Given the description of an element on the screen output the (x, y) to click on. 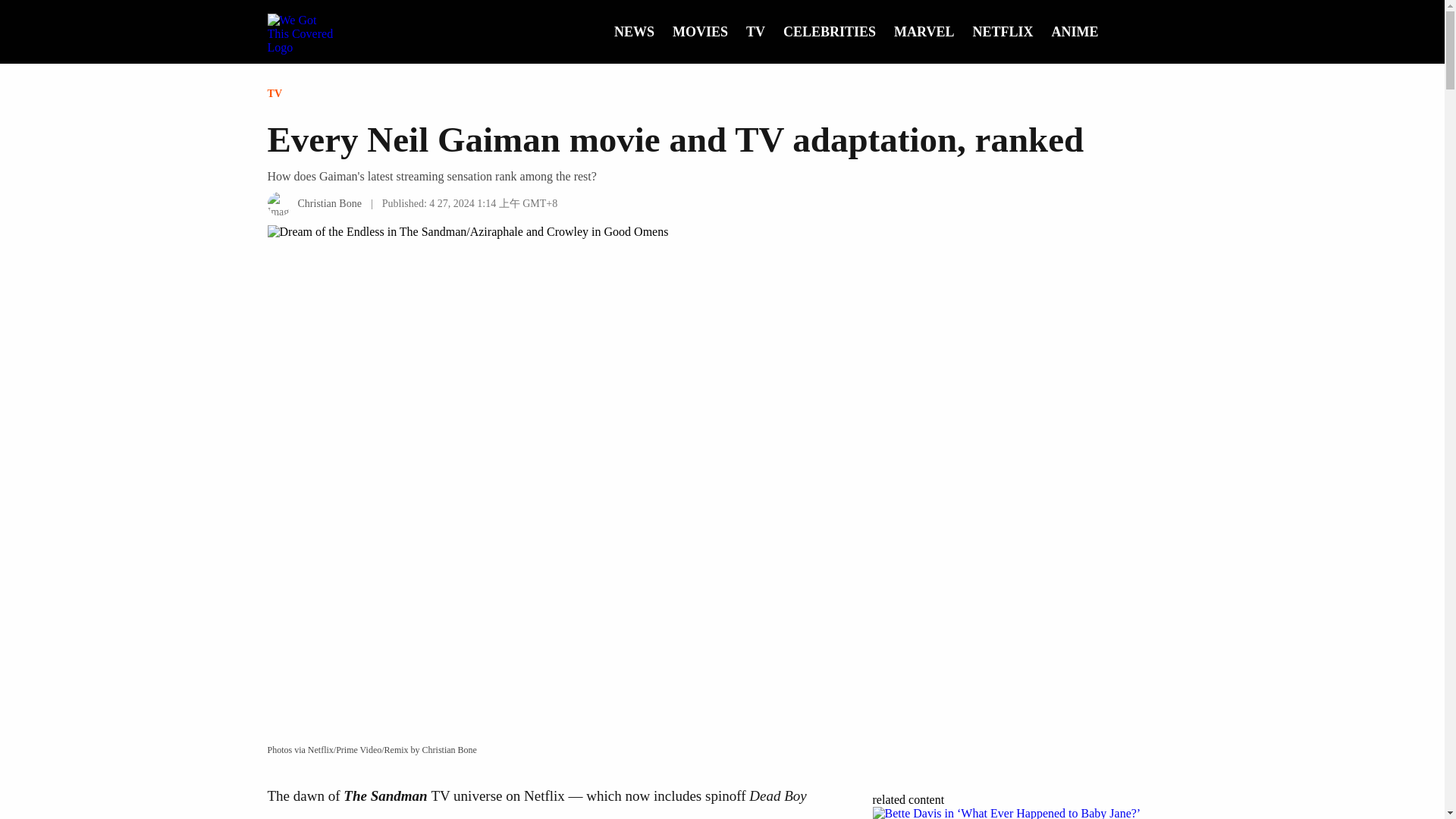
ANIME (1074, 31)
Expand Menu (1170, 28)
MOVIES (700, 31)
Search (1122, 28)
NETFLIX (1002, 31)
Dark Mode (1146, 28)
CELEBRITIES (829, 31)
NEWS (633, 31)
TV (755, 31)
MARVEL (923, 31)
